Given the description of an element on the screen output the (x, y) to click on. 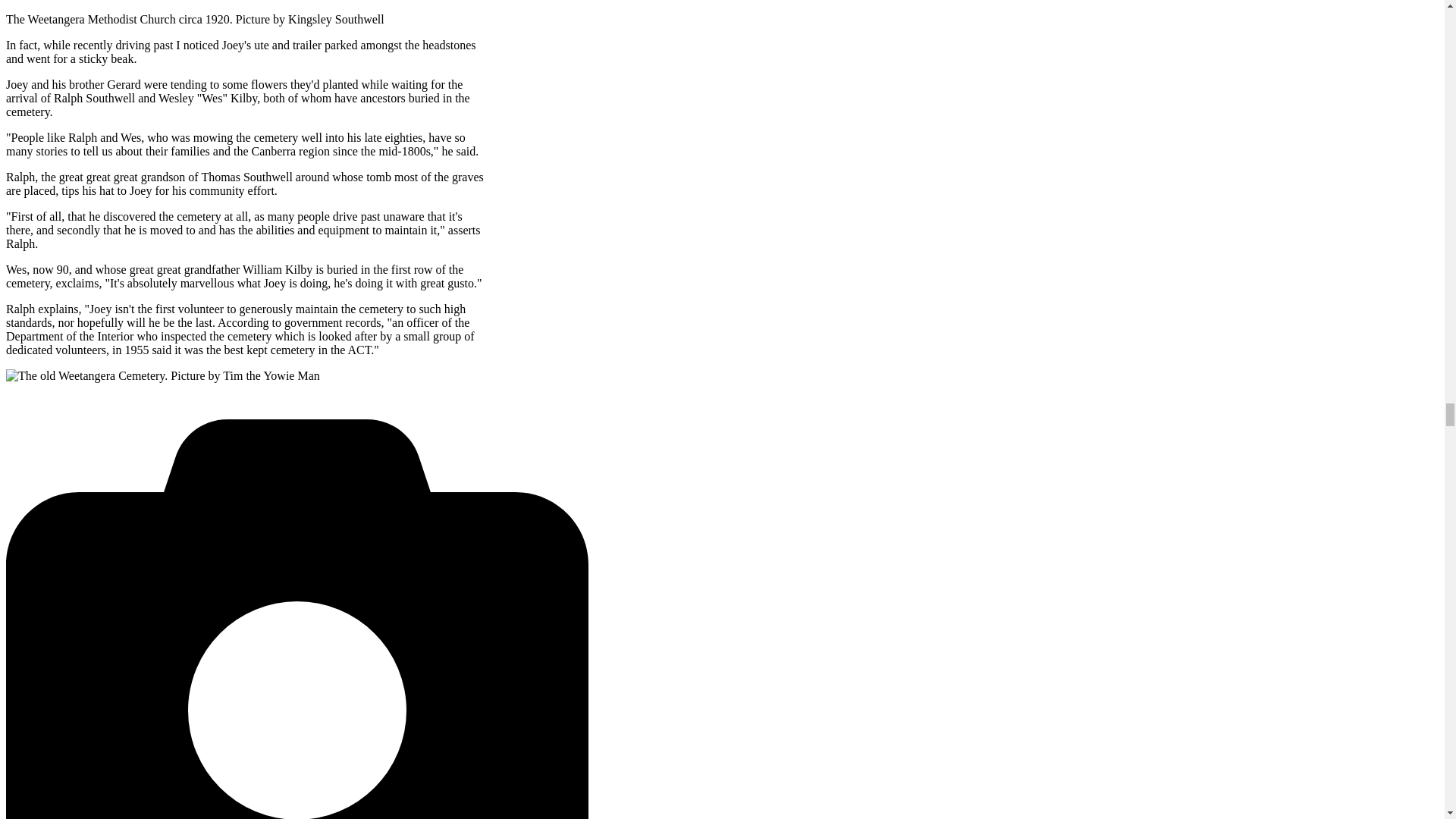
The old Weetangera Cemetery. Picture by Tim the Yowie Man (162, 375)
